Given the description of an element on the screen output the (x, y) to click on. 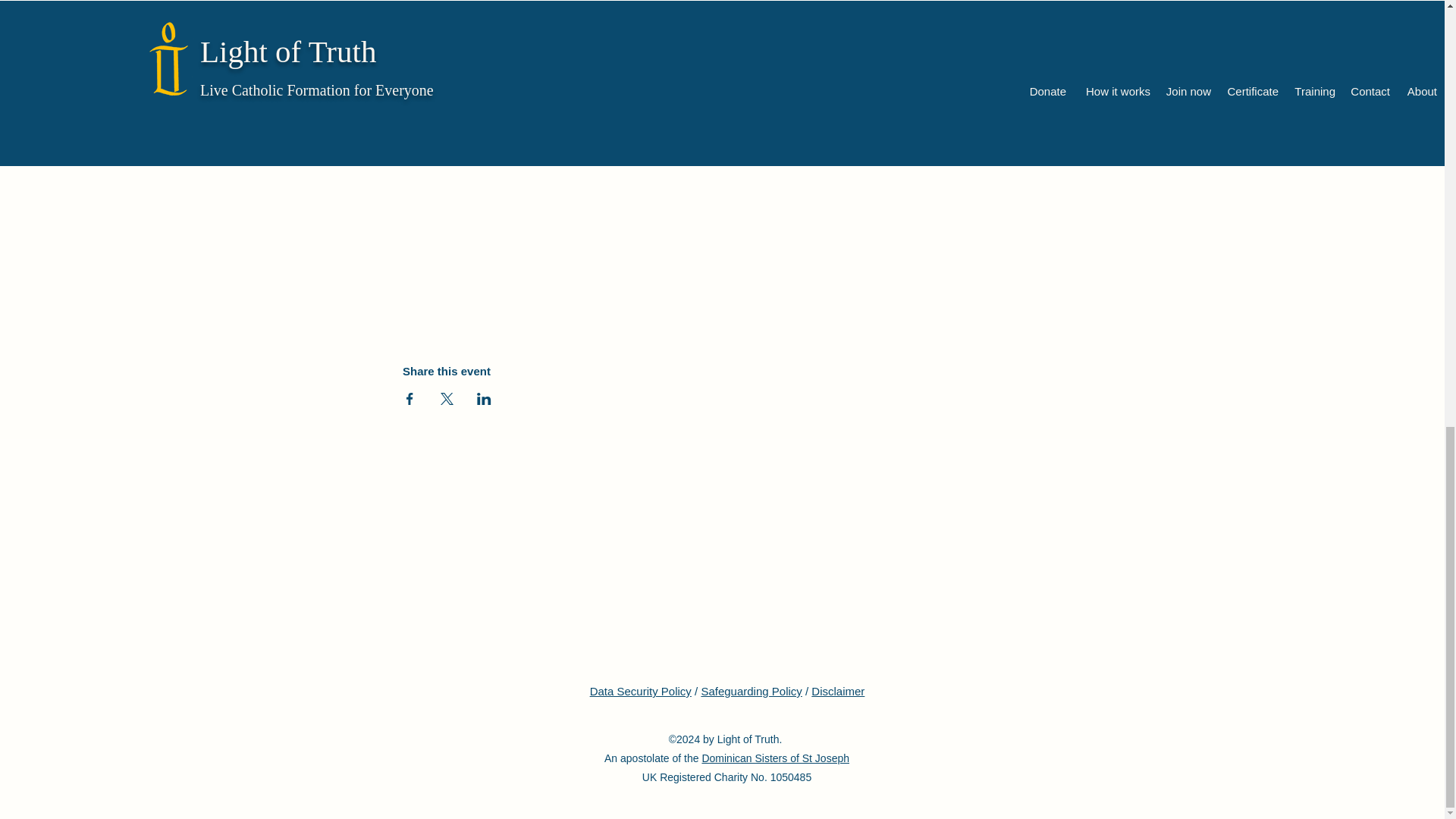
Data Security Policy (640, 690)
Dominican Sisters of St Joseph (774, 758)
Safeguarding Policy (751, 690)
Disclaimer (837, 690)
